Given the description of an element on the screen output the (x, y) to click on. 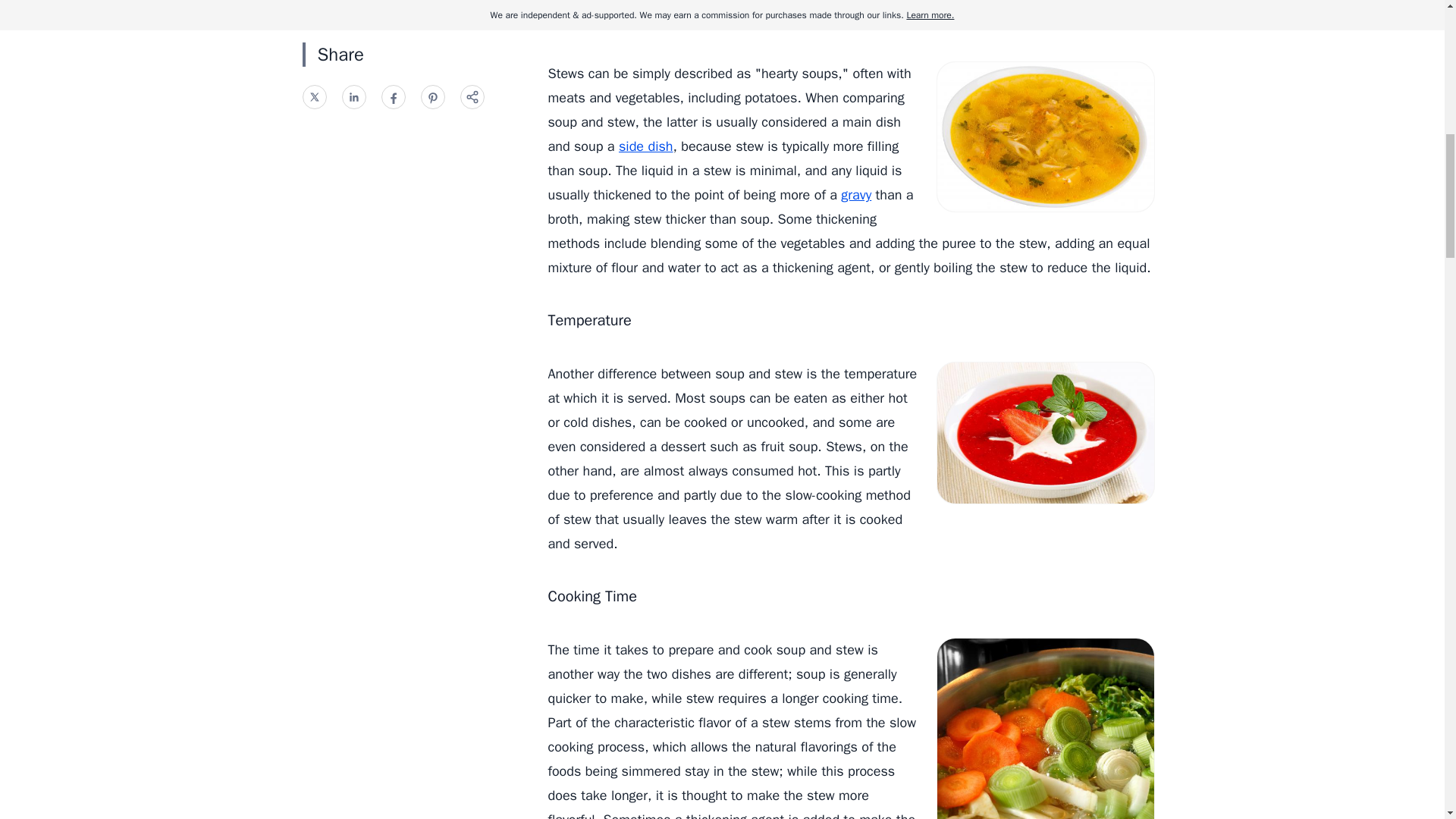
gravy (855, 194)
side dish (645, 146)
